Given the description of an element on the screen output the (x, y) to click on. 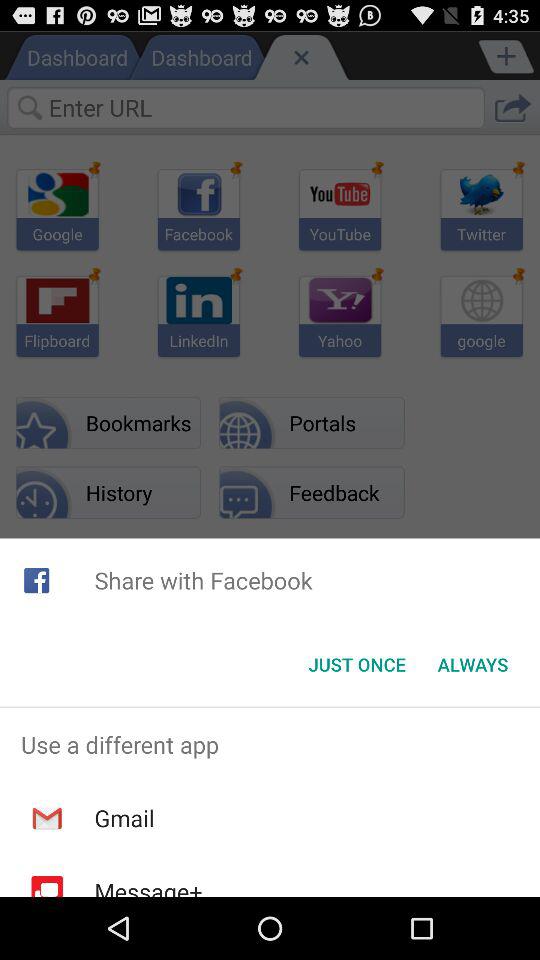
turn off button next to the always button (356, 664)
